Given the description of an element on the screen output the (x, y) to click on. 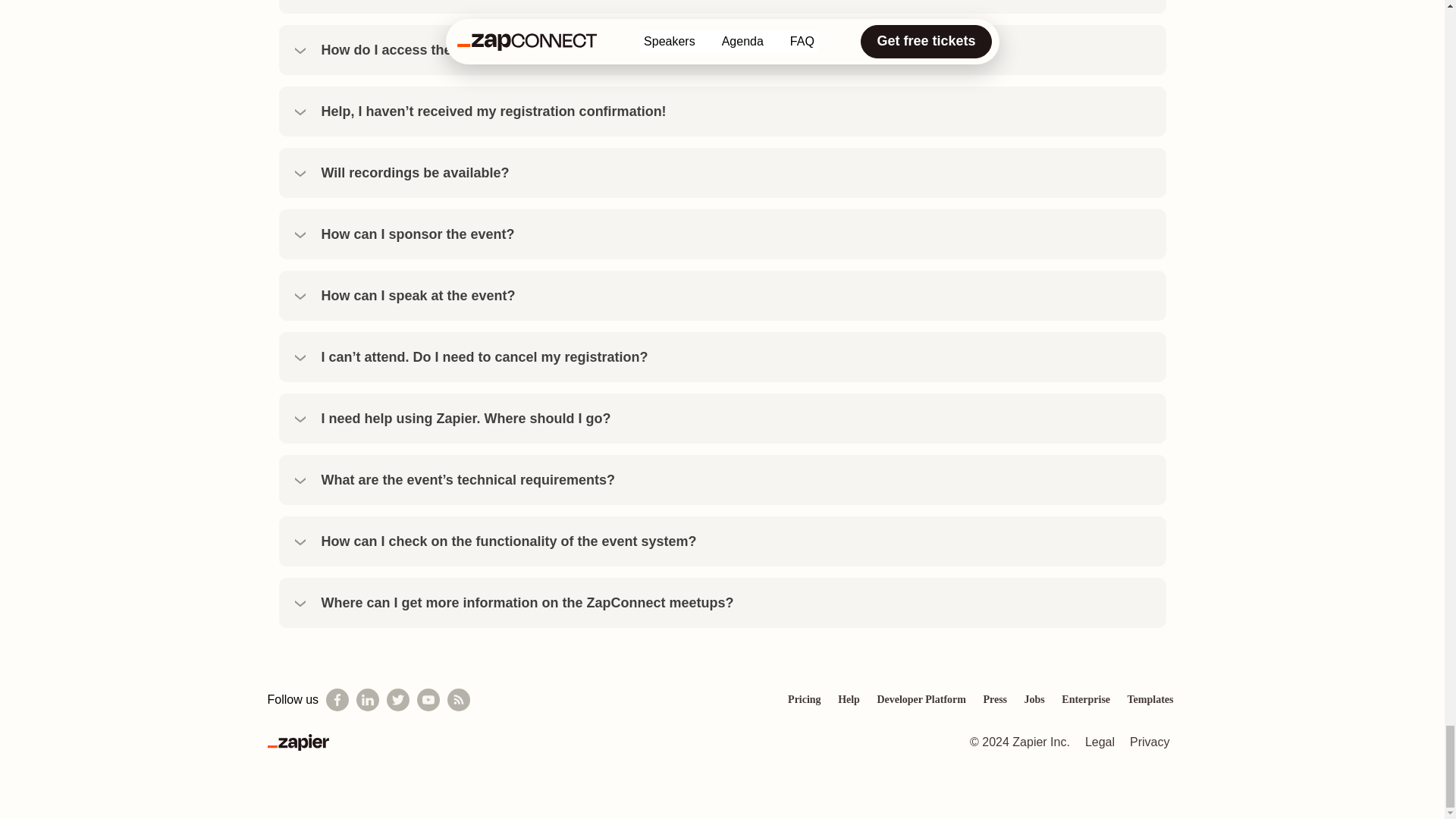
Help (848, 699)
Privacy (1149, 742)
See helpful Zapier videos on Youtube (427, 699)
Templates (1150, 699)
Enterprise (1085, 699)
Follow us on LinkedIn (367, 699)
Press (994, 699)
Pricing (804, 699)
Jobs (1034, 699)
Developer Platform (920, 699)
